Given the description of an element on the screen output the (x, y) to click on. 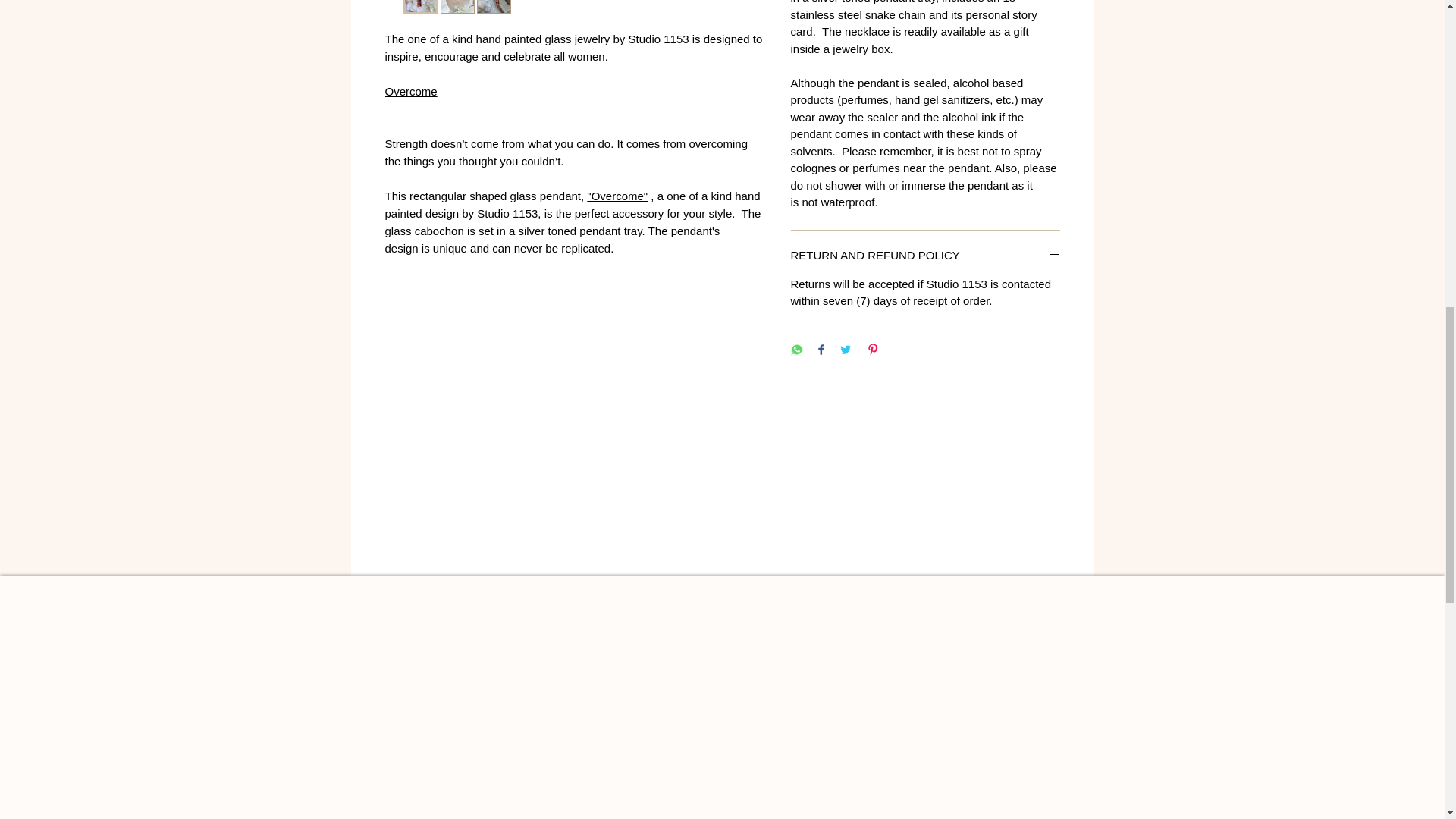
RETURN AND REFUND POLICY (924, 255)
